Given the description of an element on the screen output the (x, y) to click on. 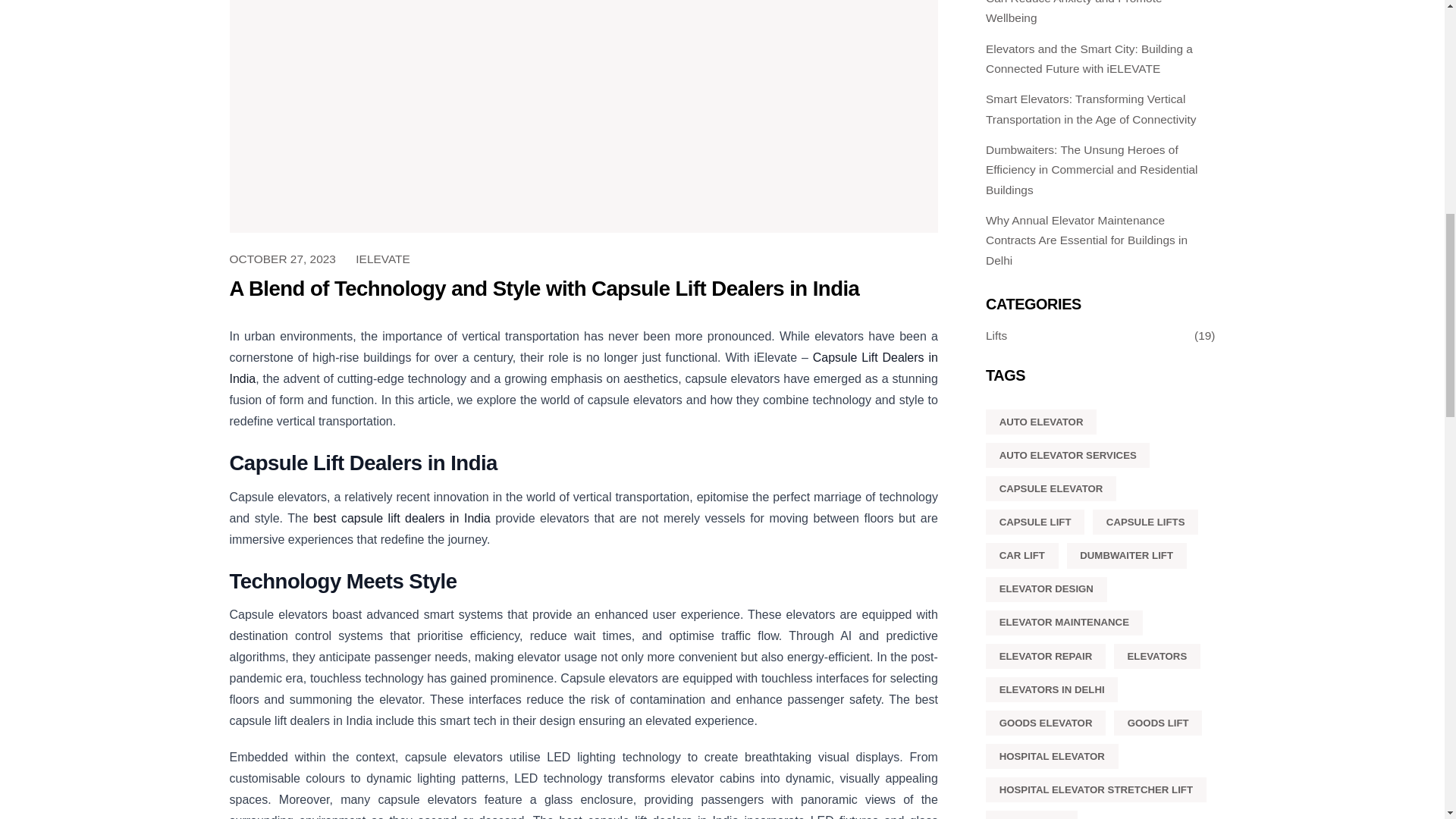
Capsule Lift Dealers in India (582, 367)
IELEVATE (383, 258)
best capsule lift dealers in India (401, 517)
